Given the description of an element on the screen output the (x, y) to click on. 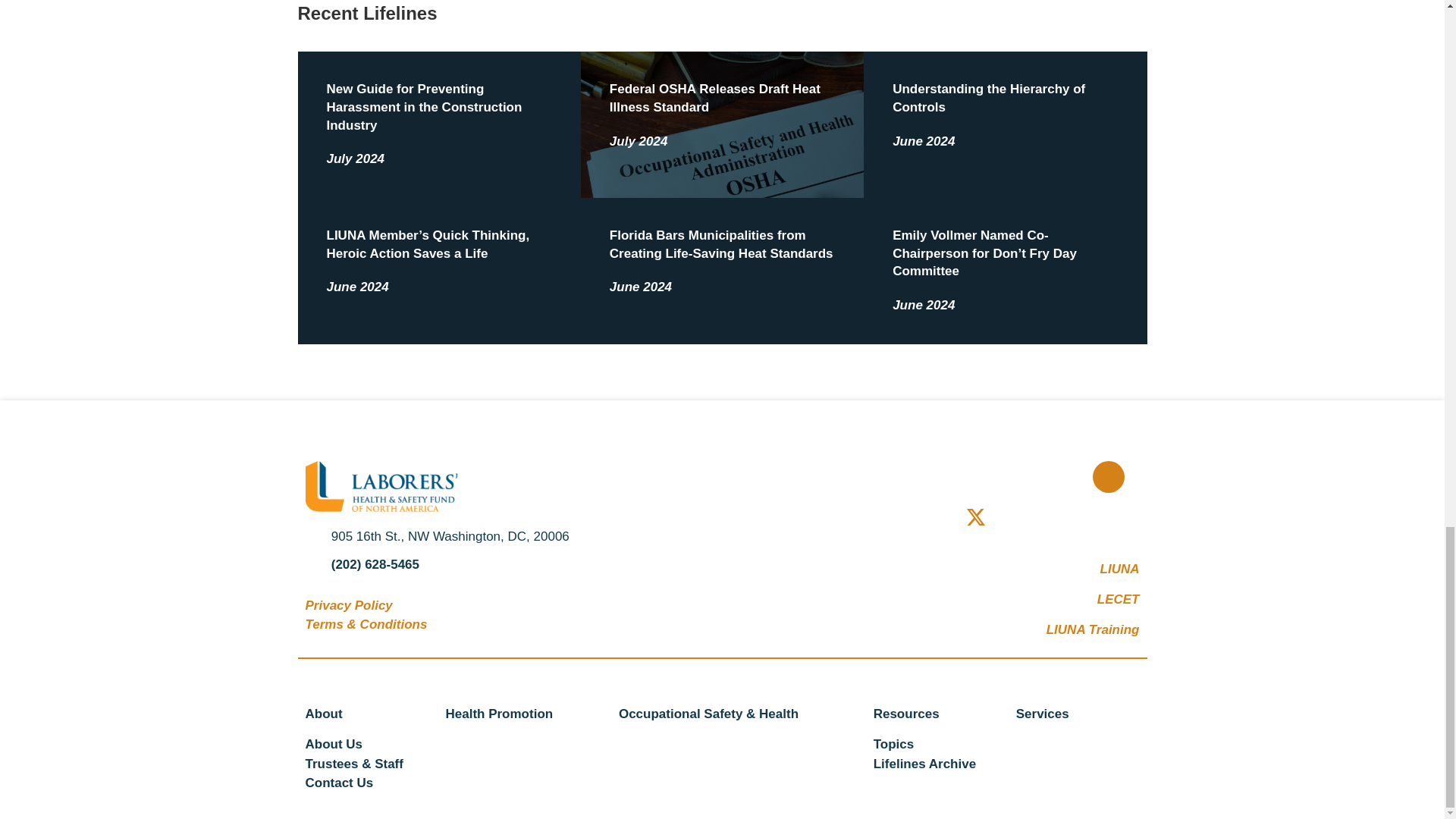
Understanding the Hierarchy of Controls (988, 97)
Federal OSHA Releases Draft Heat Illness Standard (715, 97)
